Given the description of an element on the screen output the (x, y) to click on. 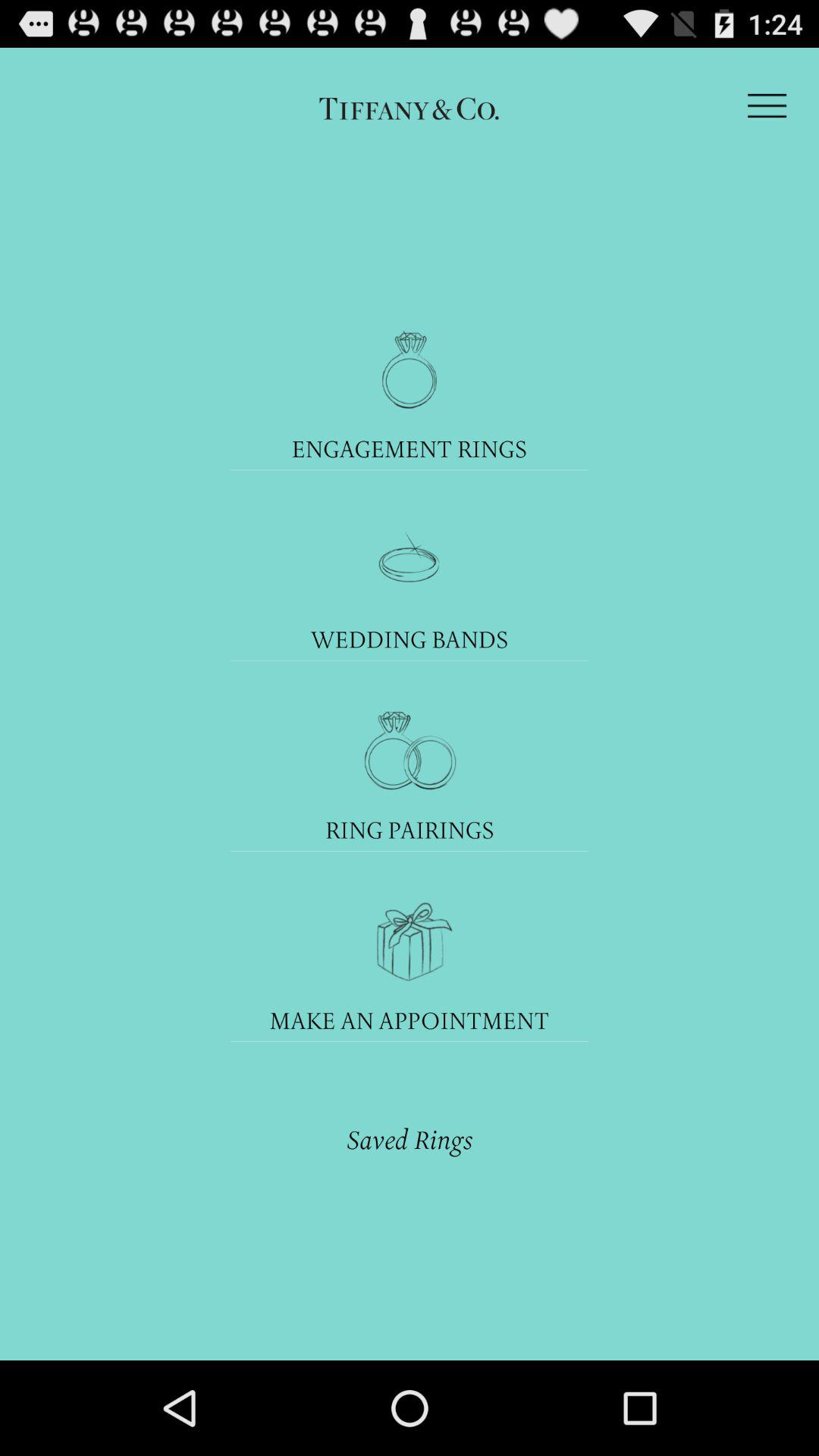
scroll to the ring pairings (409, 829)
